Given the description of an element on the screen output the (x, y) to click on. 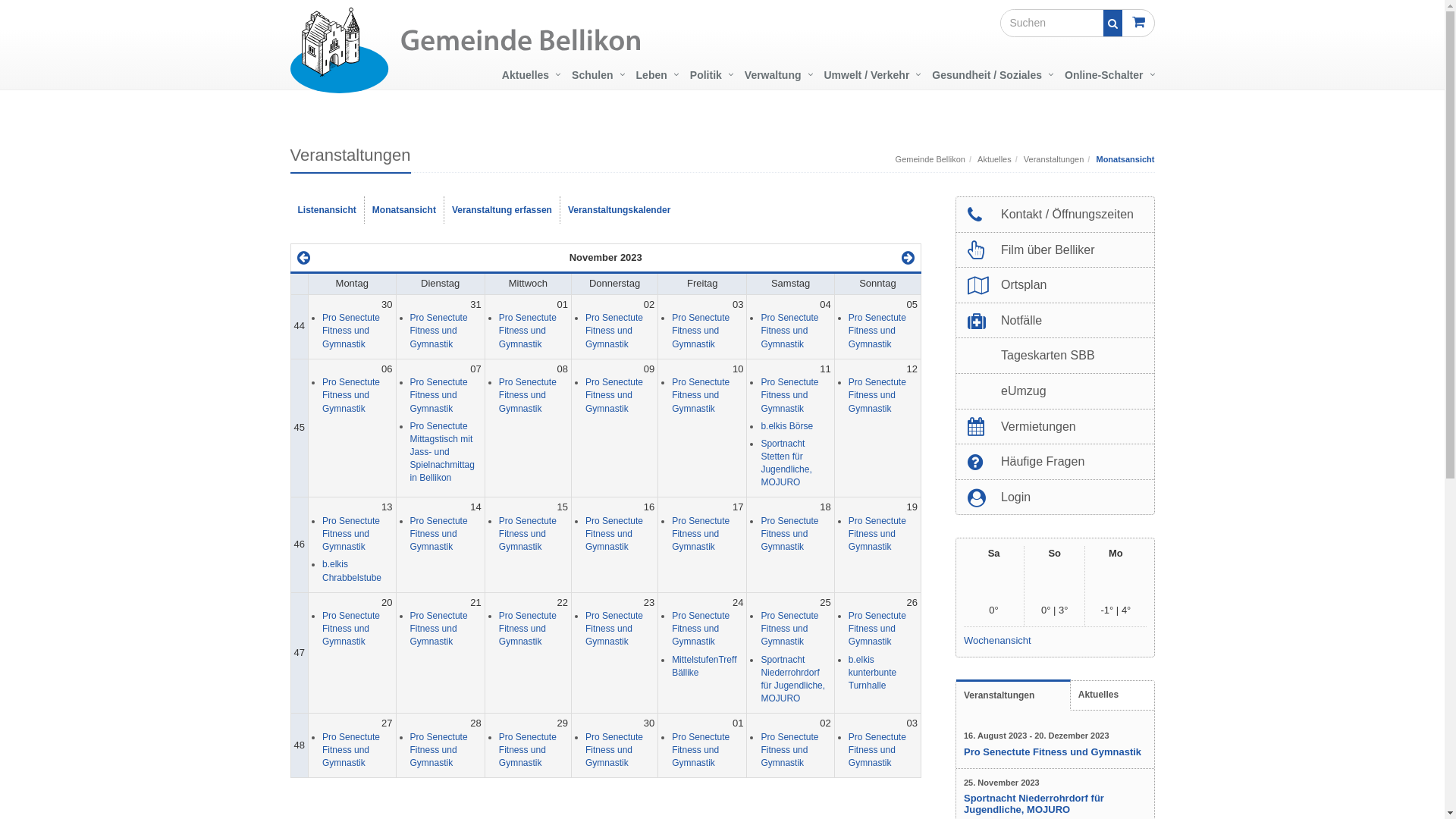
Online-Schalter Element type: text (1105, 75)
Pro Senectute Fitness und Gymnastik Element type: text (527, 533)
Pro Senectute Fitness und Gymnastik Element type: text (789, 330)
Pro Senectute Fitness und Gymnastik Element type: text (700, 533)
Pro Senectute Fitness und Gymnastik Element type: text (438, 330)
Umwelt / Verkehr Element type: text (869, 75)
Pro Senectute Fitness und Gymnastik Element type: text (877, 749)
Politik Element type: text (709, 75)
Gesundheit / Soziales Element type: text (990, 75)
Pro Senectute Fitness und Gymnastik Element type: text (877, 628)
Listenansicht Element type: text (326, 210)
Veranstaltung erfassen Element type: text (502, 210)
Verwaltung Element type: text (776, 75)
b.elkis kunterbunte Turnhalle Element type: text (872, 672)
Bellikon Element type: hover (327, 46)
Schulen Element type: text (595, 75)
Pro Senectute Fitness und Gymnastik Element type: text (614, 394)
Pro Senectute Fitness und Gymnastik Element type: text (614, 330)
Login Element type: text (1058, 497)
Pro Senectute Fitness und Gymnastik Element type: text (877, 394)
eUmzug Element type: text (1058, 390)
Pro Senectute Fitness und Gymnastik Element type: text (789, 533)
Pro Senectute Fitness und Gymnastik Element type: text (350, 330)
Pro Senectute Fitness und Gymnastik Element type: text (877, 330)
Wochenansicht Element type: text (1054, 637)
Pro Senectute Fitness und Gymnastik Element type: text (614, 749)
Pro Senectute Fitness und Gymnastik Element type: text (438, 749)
Pro Senectute Fitness und Gymnastik Element type: text (614, 628)
Aktuelles Element type: text (529, 75)
Pro Senectute Fitness und Gymnastik Element type: text (438, 394)
Pro Senectute Fitness und Gymnastik Element type: text (527, 330)
Pro Senectute Fitness und Gymnastik Element type: text (527, 394)
Pro Senectute Fitness und Gymnastik Element type: text (700, 394)
Pro Senectute Fitness und Gymnastik Element type: text (789, 394)
Pro Senectute Fitness und Gymnastik Element type: text (789, 749)
Vermietungen Element type: text (1058, 426)
Pro Senectute Fitness und Gymnastik Element type: text (877, 533)
Pro Senectute Fitness und Gymnastik Element type: text (1052, 751)
Pro Senectute Fitness und Gymnastik Element type: text (438, 628)
Aktuelles Element type: text (1112, 694)
Pro Senectute Fitness und Gymnastik Element type: text (700, 749)
Pro Senectute Fitness und Gymnastik Element type: text (350, 394)
Pro Senectute Fitness und Gymnastik Element type: text (350, 533)
Veranstaltungen Element type: text (1053, 158)
Monatsansicht Element type: text (404, 210)
Pro Senectute Fitness und Gymnastik Element type: text (700, 330)
Aktuelles Element type: text (994, 158)
Leben Element type: text (655, 75)
b.elkis Chrabbelstube Element type: text (351, 570)
Pro Senectute Fitness und Gymnastik Element type: text (350, 749)
Ortsplan Element type: text (1058, 284)
Pro Senectute Fitness und Gymnastik Element type: text (527, 749)
Pro Senectute Fitness und Gymnastik Element type: text (789, 628)
Tageskarten SBB Element type: text (1058, 355)
Pro Senectute Fitness und Gymnastik Element type: text (438, 533)
Gemeinde Bellikon Element type: text (930, 158)
Pro Senectute Fitness und Gymnastik Element type: text (700, 628)
Pro Senectute Fitness und Gymnastik Element type: text (527, 628)
Pro Senectute Fitness und Gymnastik Element type: text (614, 533)
Veranstaltungskalender Element type: text (618, 210)
Pro Senectute Fitness und Gymnastik Element type: text (350, 628)
